Given the description of an element on the screen output the (x, y) to click on. 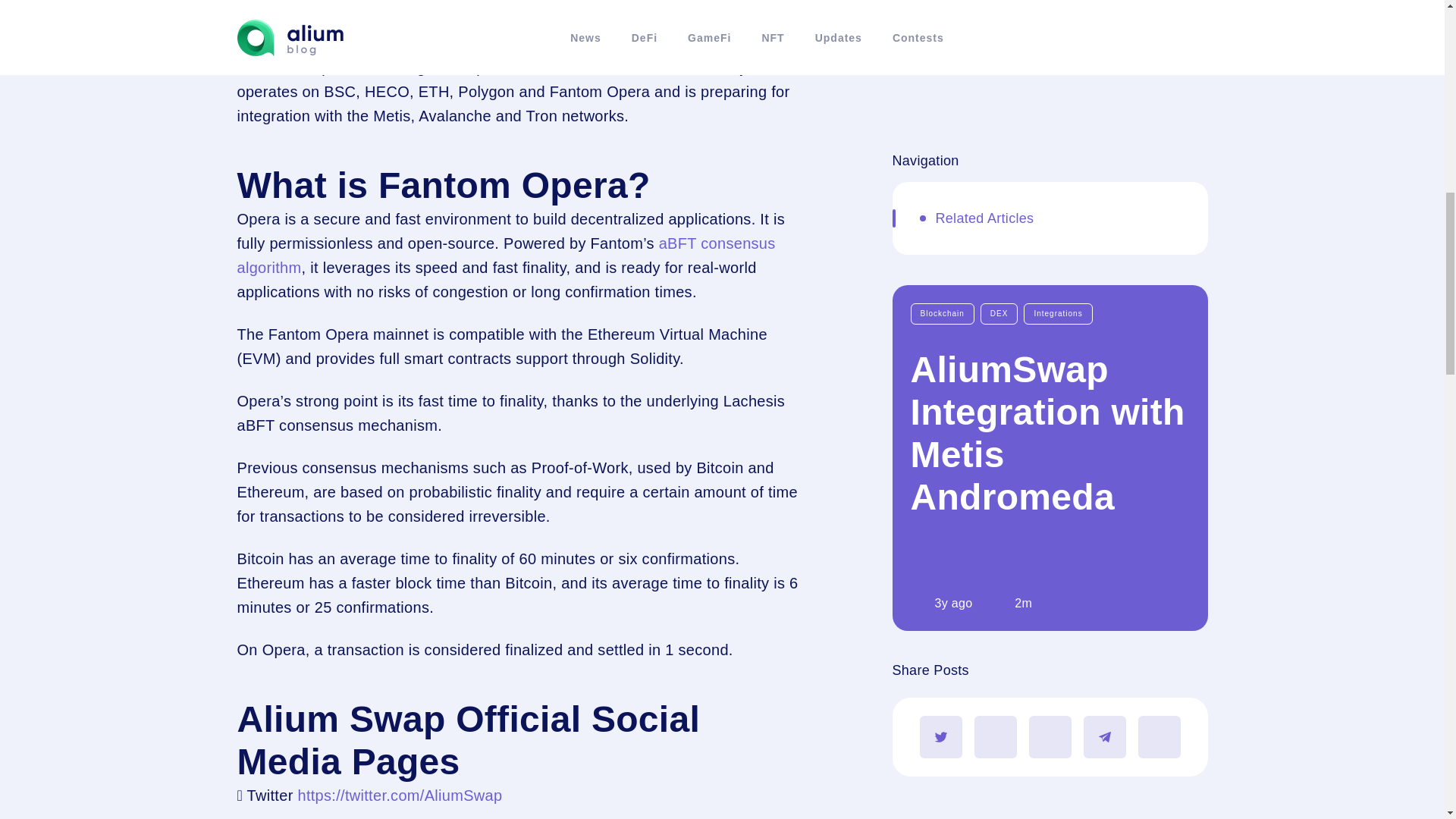
aBFT consensus algorithm (504, 255)
